Given the description of an element on the screen output the (x, y) to click on. 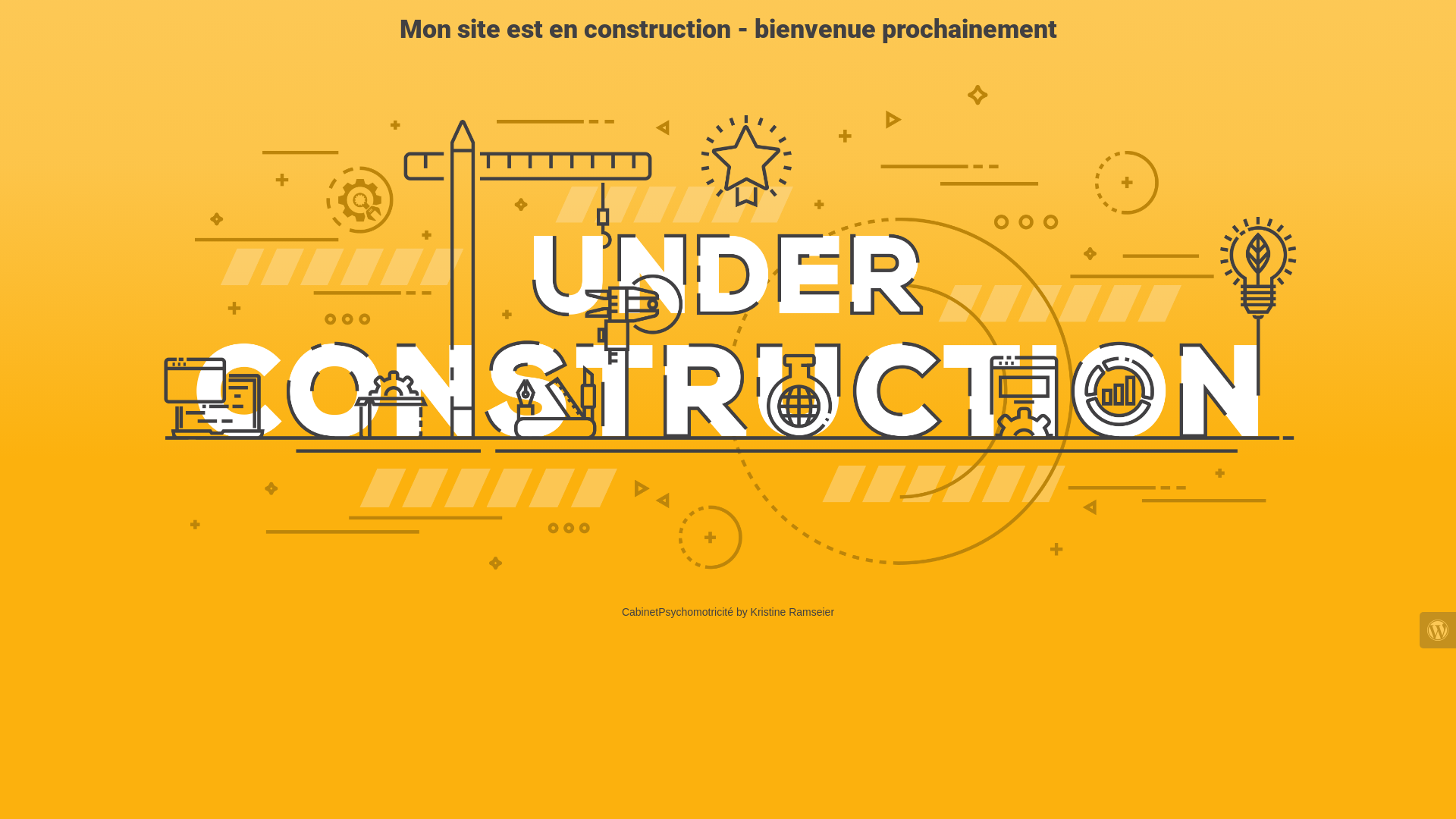
Site is Under Construction Element type: hover (727, 327)
